Given the description of an element on the screen output the (x, y) to click on. 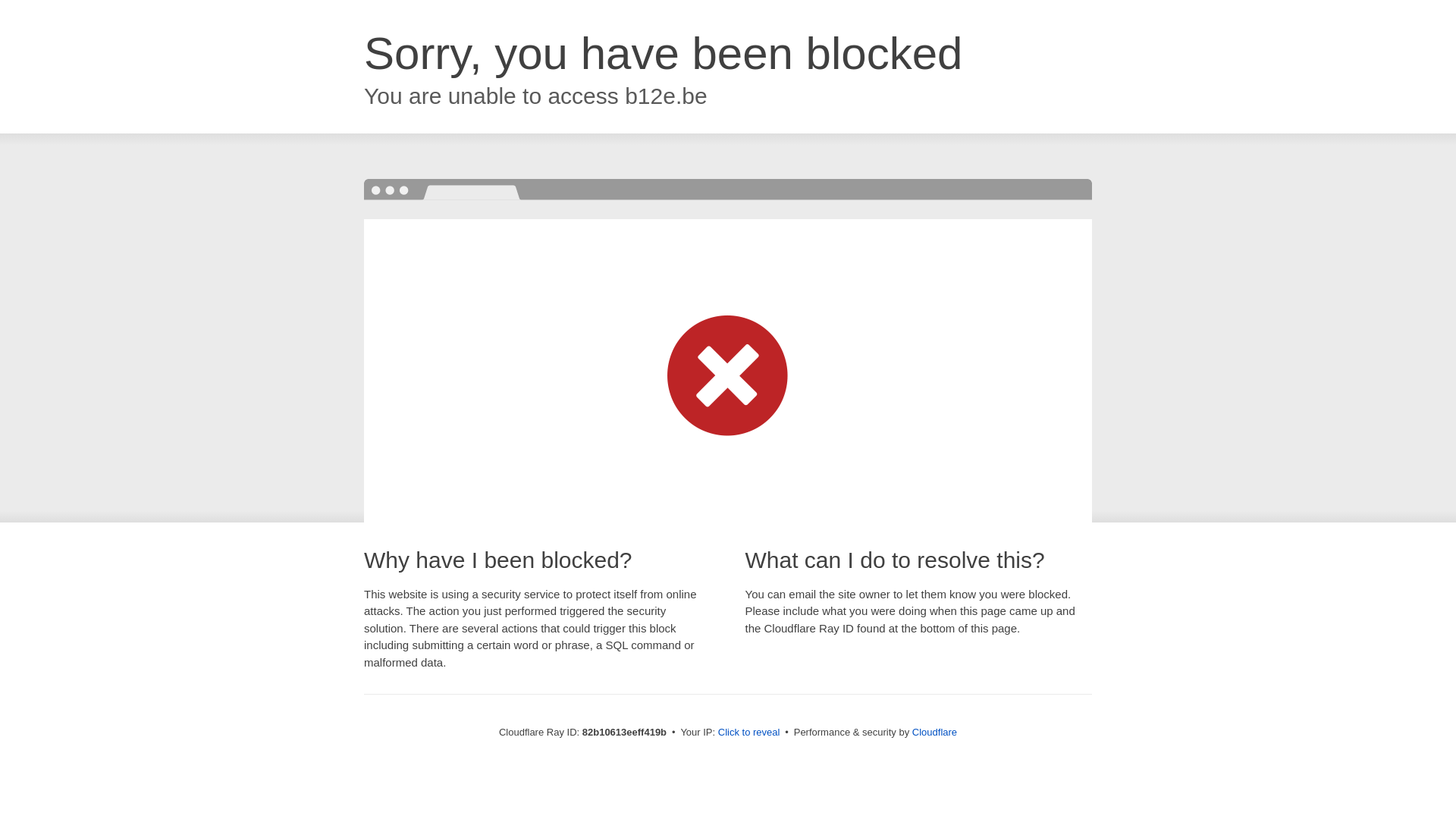
Cloudflare Element type: text (934, 731)
Click to reveal Element type: text (749, 732)
